Given the description of an element on the screen output the (x, y) to click on. 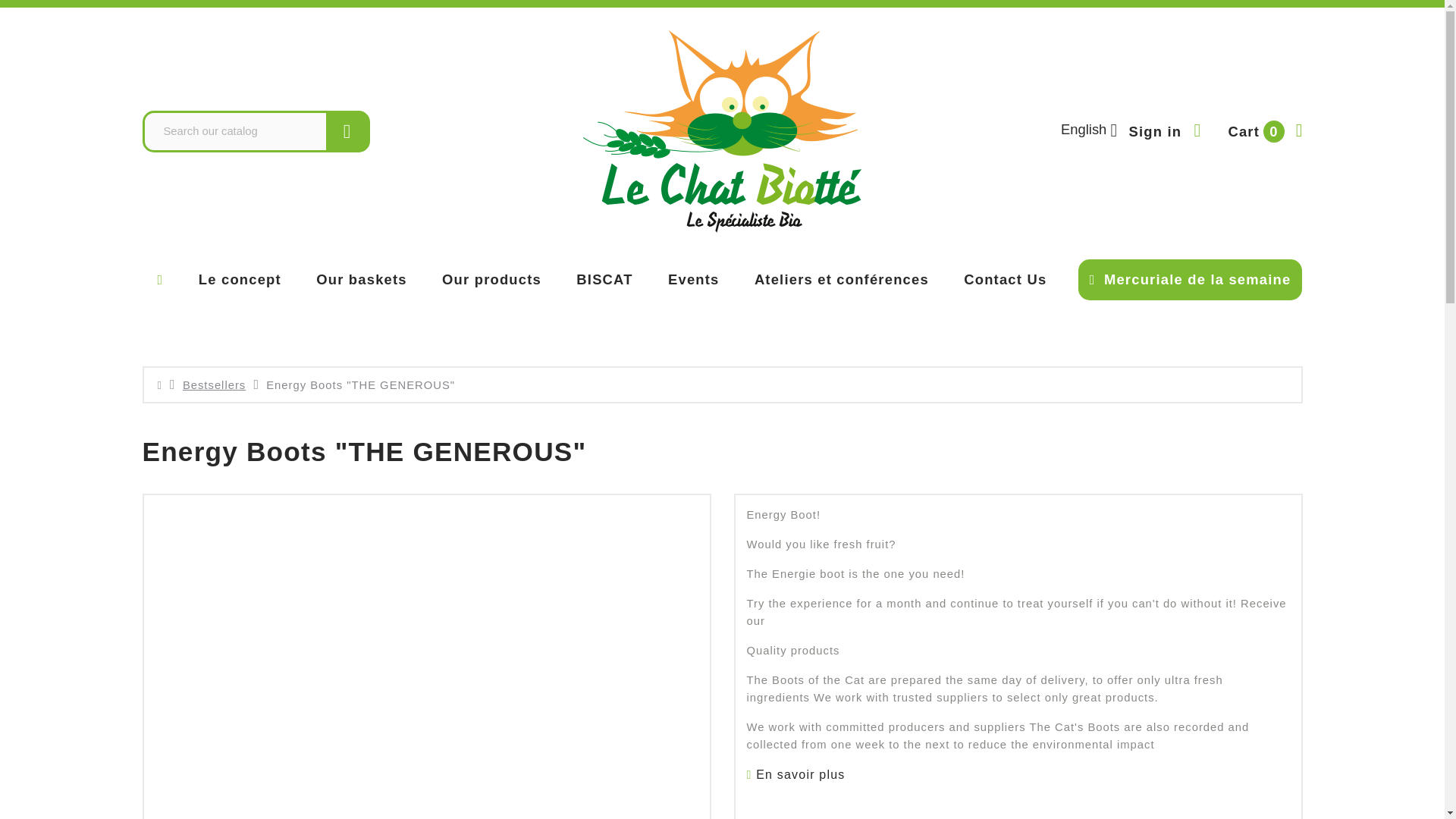
BISCAT (604, 279)
En savoir plus (794, 774)
Our baskets (361, 279)
Bestsellers (214, 385)
Log in to your customer account (1164, 131)
Mercuriale de la semaine (1190, 279)
Contact Us (1004, 279)
Energy Boots "THE GENEROUS" (360, 385)
Le concept (240, 279)
Our products (491, 279)
Events (693, 279)
Sign in (1164, 131)
